Given the description of an element on the screen output the (x, y) to click on. 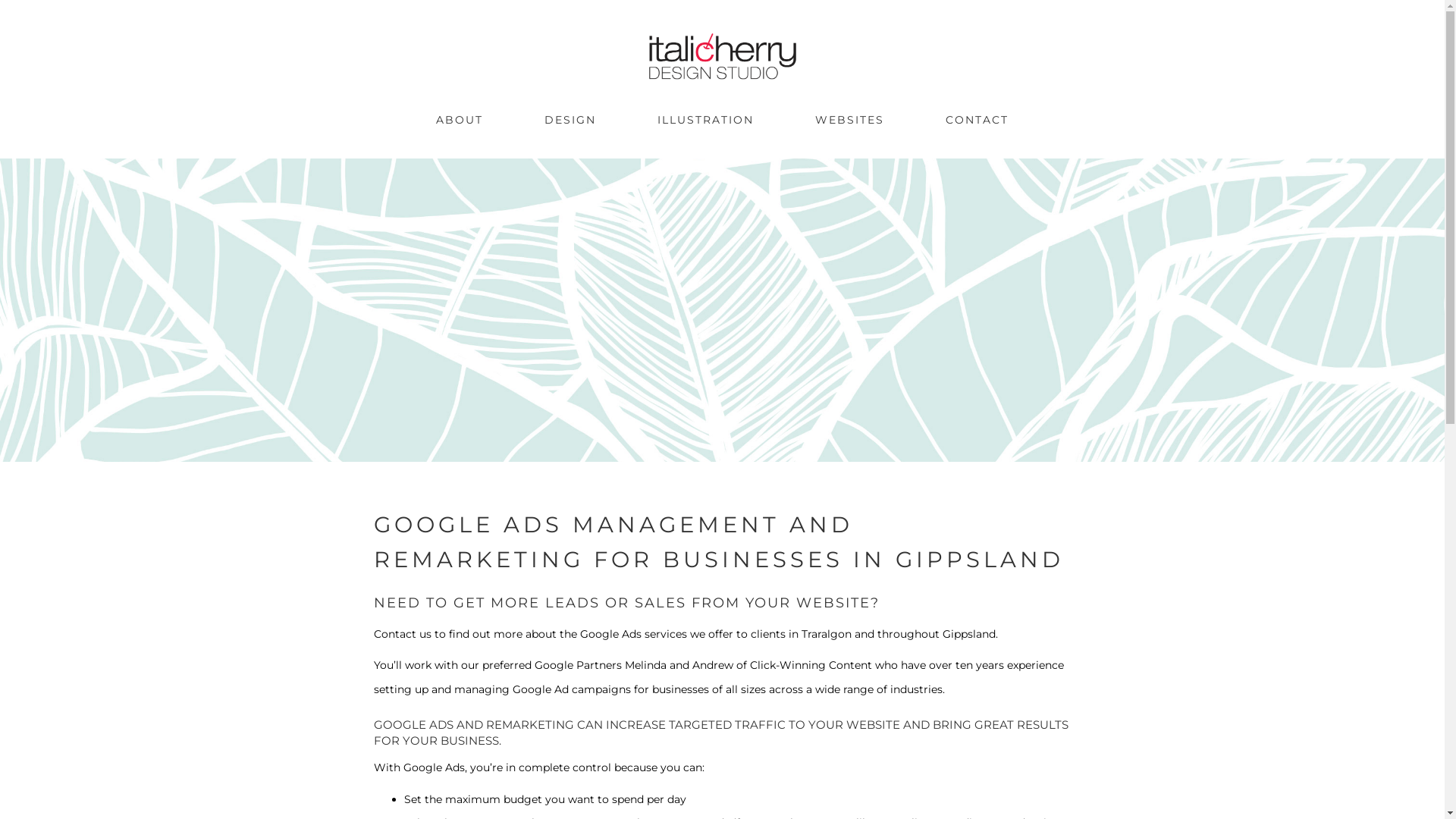
ItalicherryDesign-logo Element type: hover (721, 56)
ILLUSTRATION Element type: text (705, 120)
ABOUT Element type: text (459, 120)
DESIGN Element type: text (570, 120)
WEBSITES Element type: text (849, 120)
CONTACT Element type: text (976, 120)
